Given the description of an element on the screen output the (x, y) to click on. 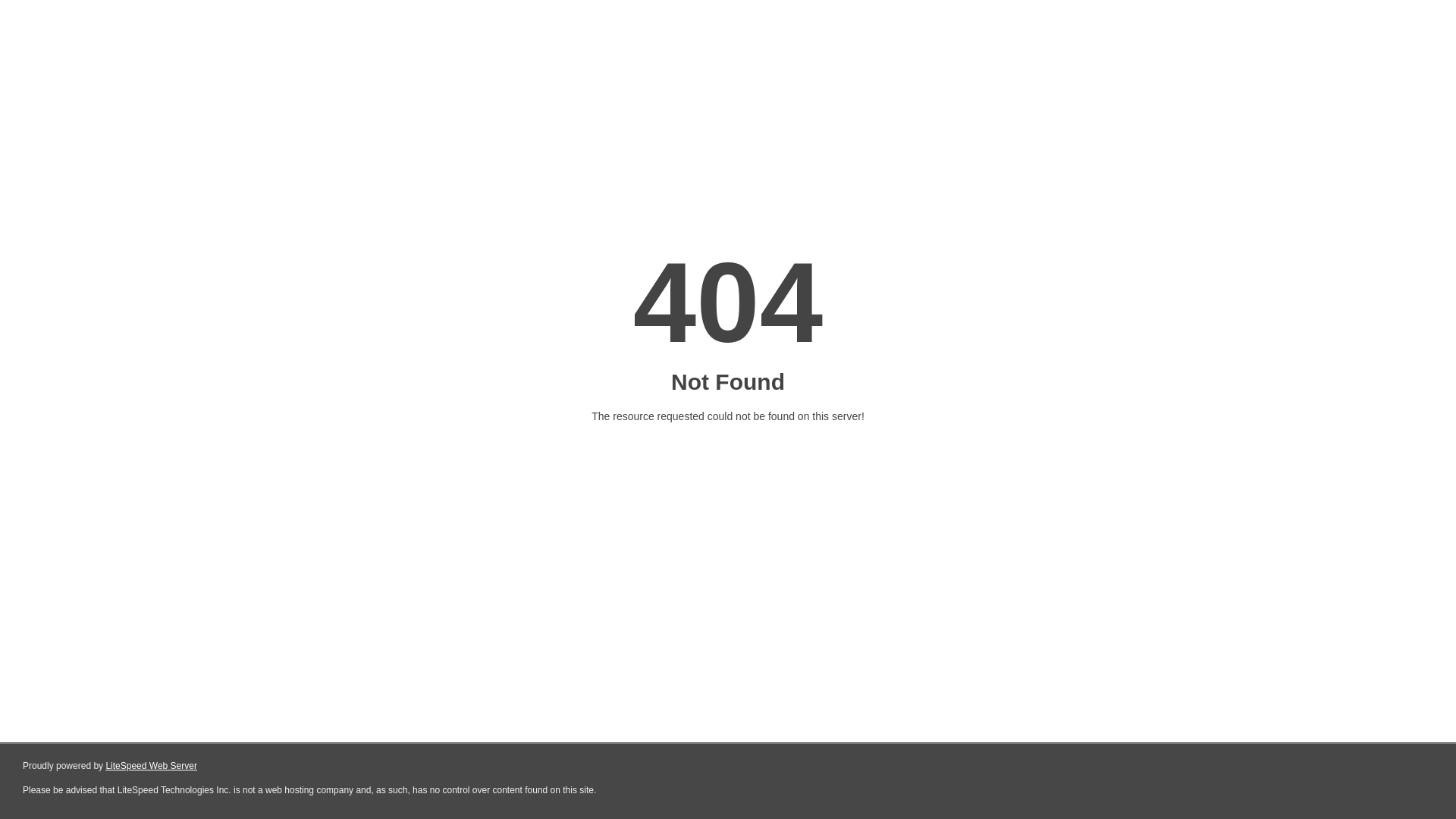
LiteSpeed Web Server Element type: text (151, 765)
